Given the description of an element on the screen output the (x, y) to click on. 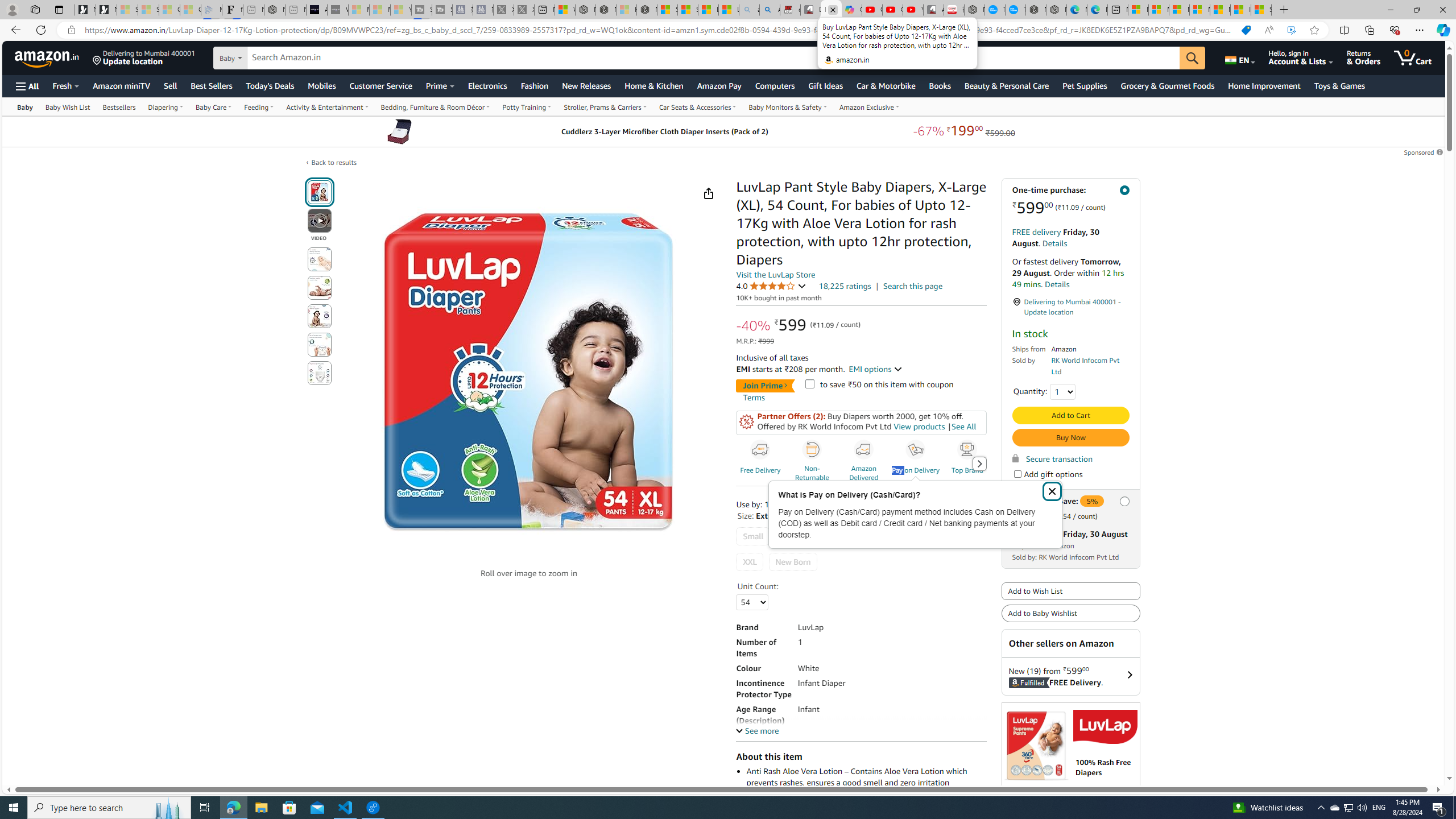
Wildlife - MSN (564, 9)
AI Voice Changer for PC and Mac - Voice.ai (316, 9)
Copilot (851, 9)
Nordace - Nordace has arrived Hong Kong (1056, 9)
Enhance video (1291, 29)
Microsoft account | Privacy (1199, 9)
The most popular Google 'how to' searches (1015, 9)
Nordace - My Account (974, 9)
Nordace - Nordace Siena Is Not An Ordinary Backpack (646, 9)
Amazon Echo Dot PNG - Search Images (769, 9)
What's the best AI voice generator? - voice.ai - Sleeping (337, 9)
